Given the description of an element on the screen output the (x, y) to click on. 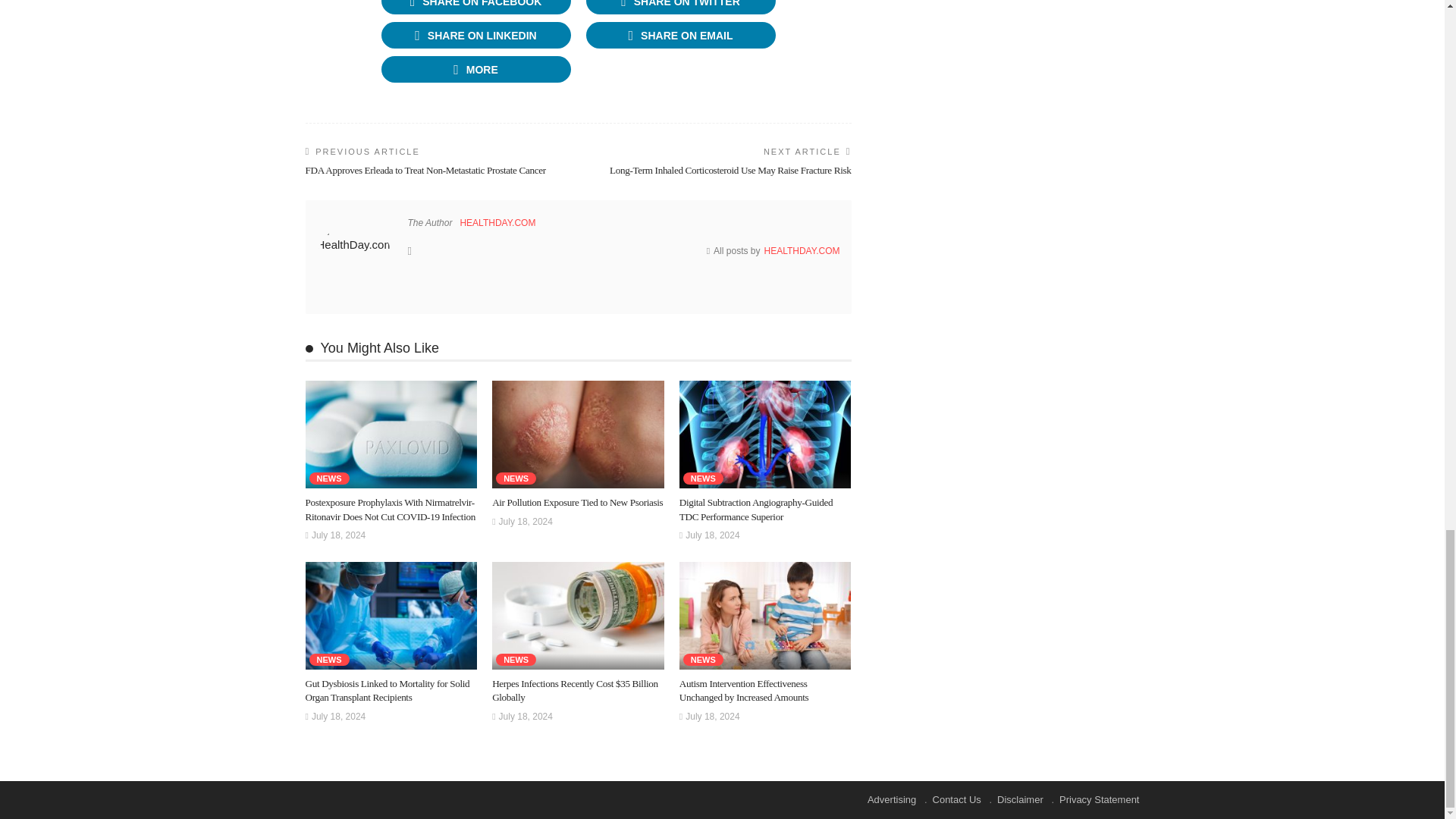
News (328, 478)
FDA Approves Erleada to Treat Non-Metastatic Prostate Cancer (424, 170)
FDA Approves Erleada to Treat Non-Metastatic Prostate Cancer (424, 170)
NEWS (328, 478)
SHARE ON TWITTER (679, 6)
SHARE ON FACEBOOK (475, 6)
MORE (475, 69)
Long-Term Inhaled Corticosteroid Use May Raise Fracture Risk (730, 170)
HEALTHDAY.COM (801, 250)
Long-Term Inhaled Corticosteroid Use May Raise Fracture Risk (730, 170)
HEALTHDAY.COM (497, 222)
SHARE ON LINKEDIN (475, 35)
